Given the description of an element on the screen output the (x, y) to click on. 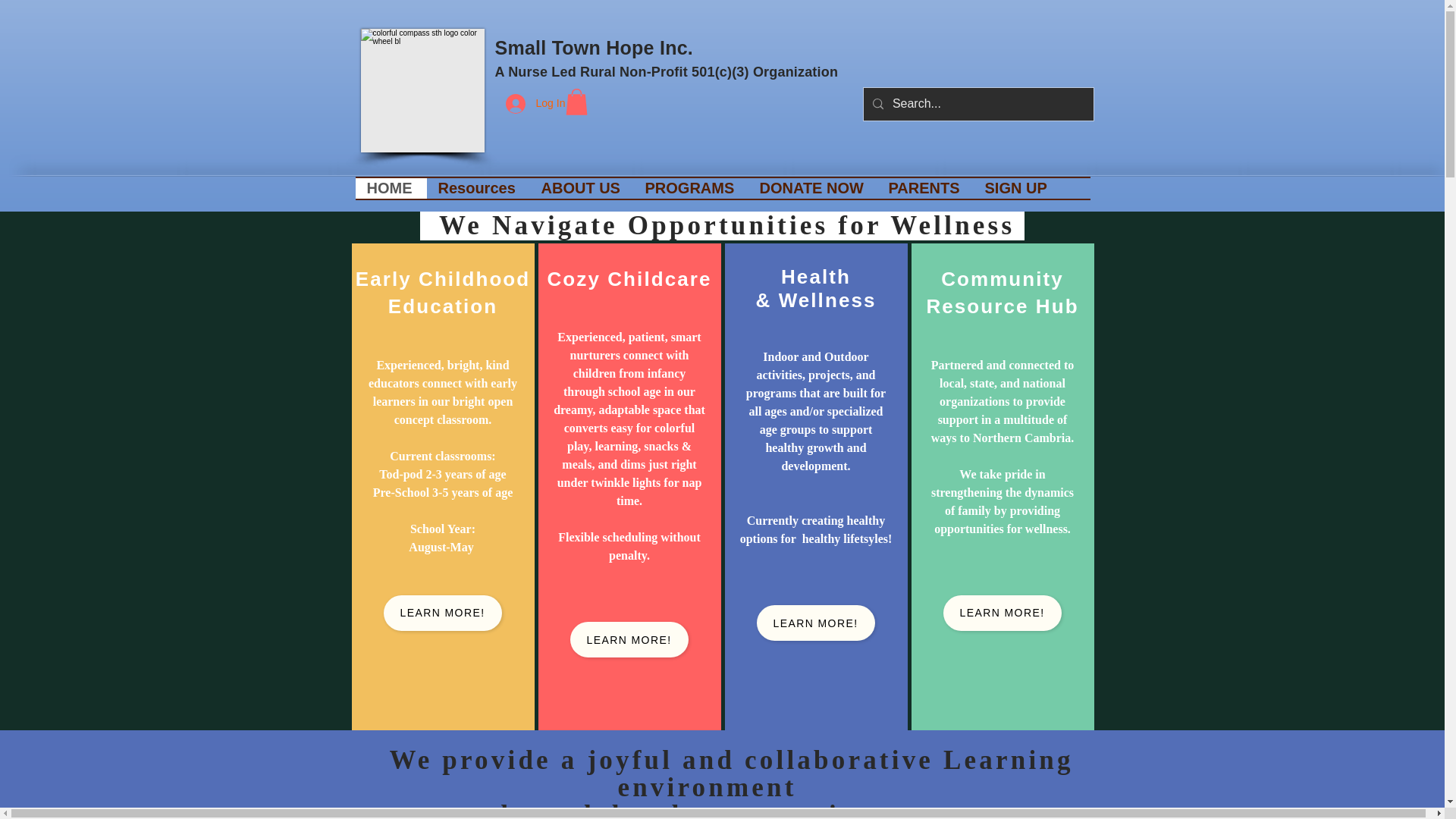
LEARN MORE! (1002, 612)
HOME (390, 188)
SIGN UP (1017, 188)
DONATE NOW (812, 188)
PARENTS (924, 188)
Log In (516, 103)
LEARN MORE! (443, 612)
LEARN MORE! (816, 622)
Resources (477, 188)
LEARN MORE! (629, 639)
ABOUT US (581, 188)
PROGRAMS (690, 188)
